Given the description of an element on the screen output the (x, y) to click on. 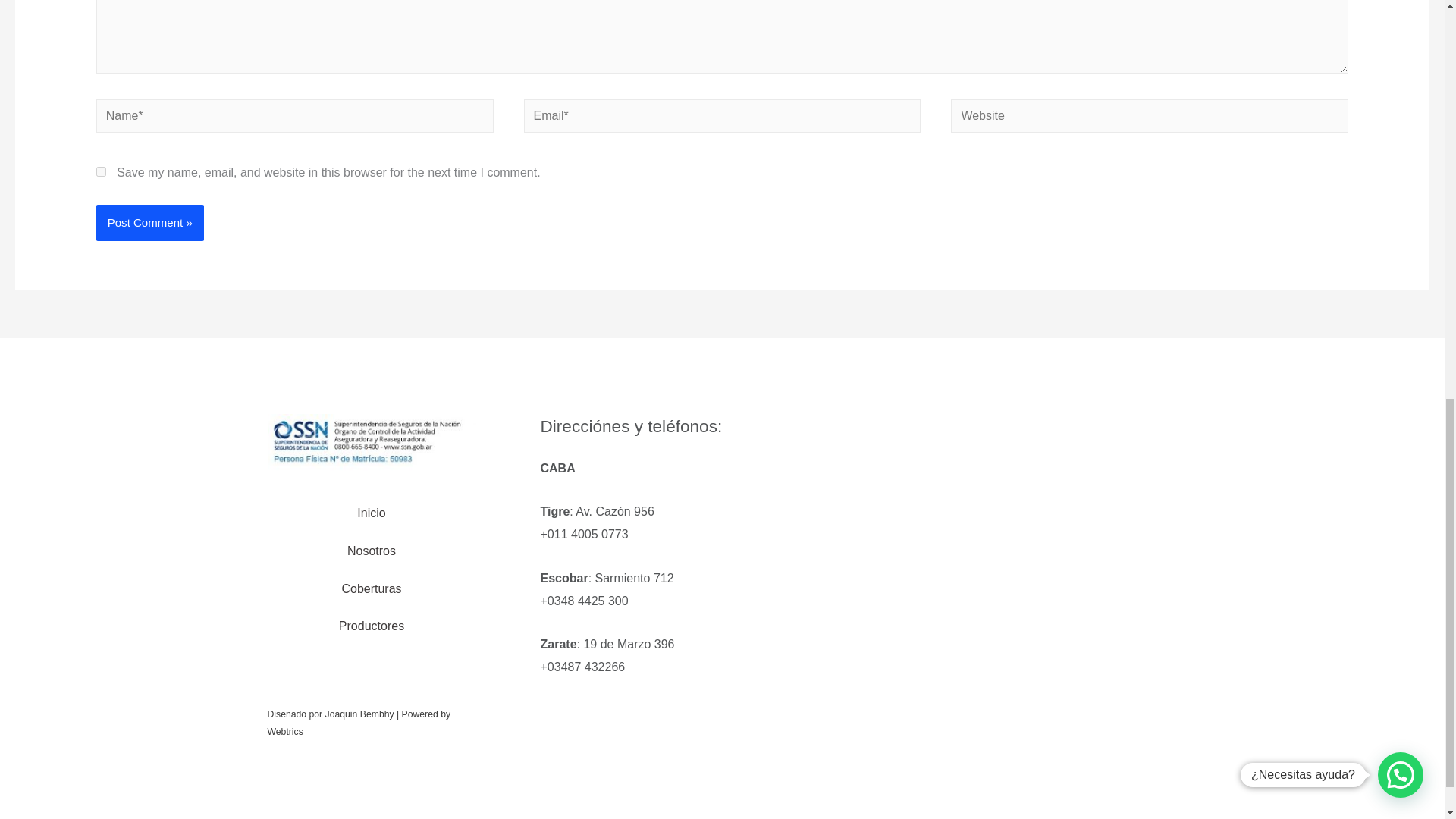
Nosotros (371, 551)
Productores (371, 626)
yes (101, 171)
Inicio (371, 513)
Coberturas (371, 589)
